Given the description of an element on the screen output the (x, y) to click on. 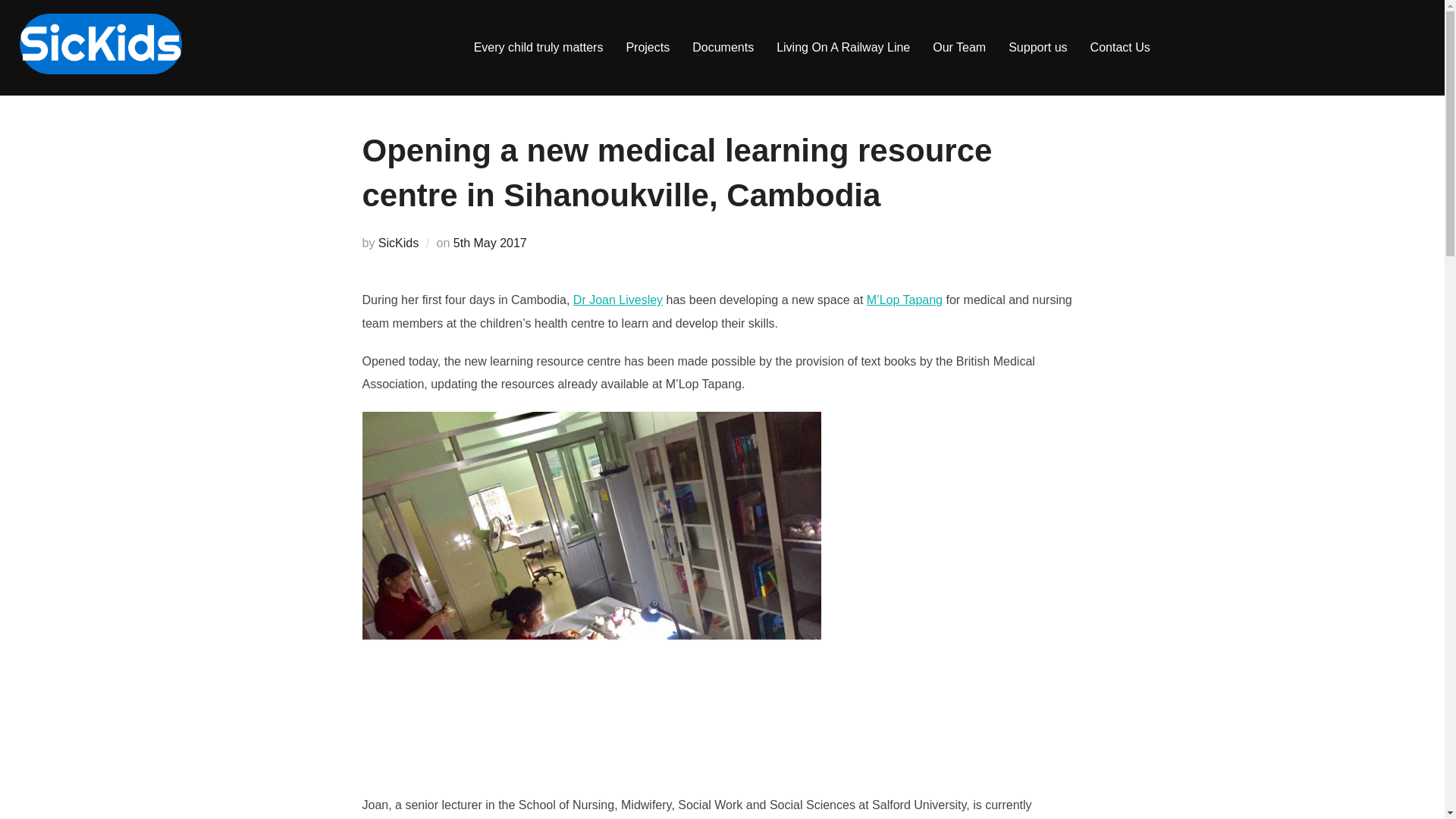
5th May 2017 (489, 242)
Contact Us (1120, 47)
Dr Joan Livesley (617, 299)
Projects (647, 47)
SicKids (398, 242)
Our Team (959, 47)
Living On A Railway Line (843, 47)
Every child truly matters (539, 47)
Support us (1038, 47)
Documents (723, 47)
